Given the description of an element on the screen output the (x, y) to click on. 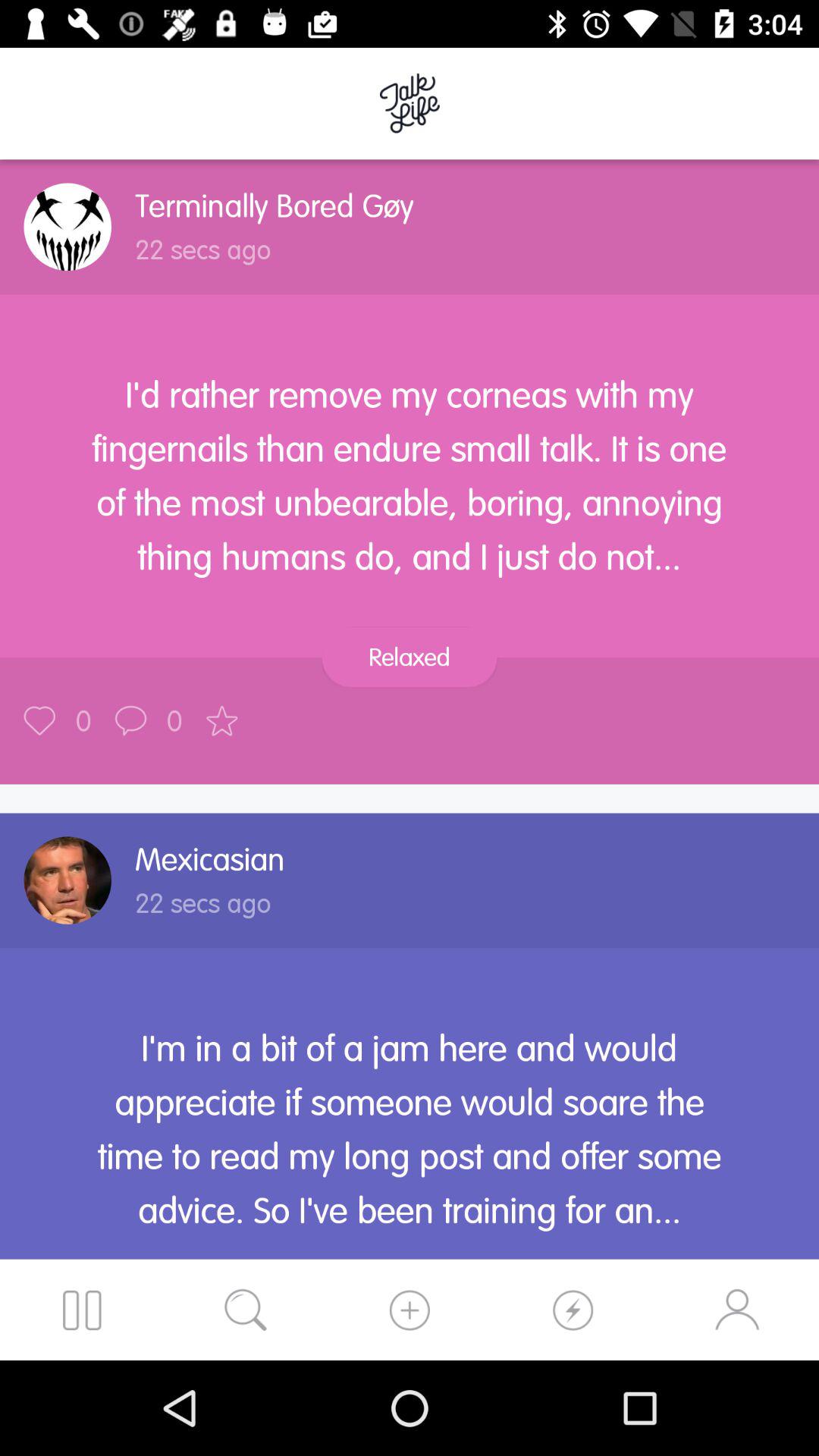
favorite item (221, 720)
